Given the description of an element on the screen output the (x, y) to click on. 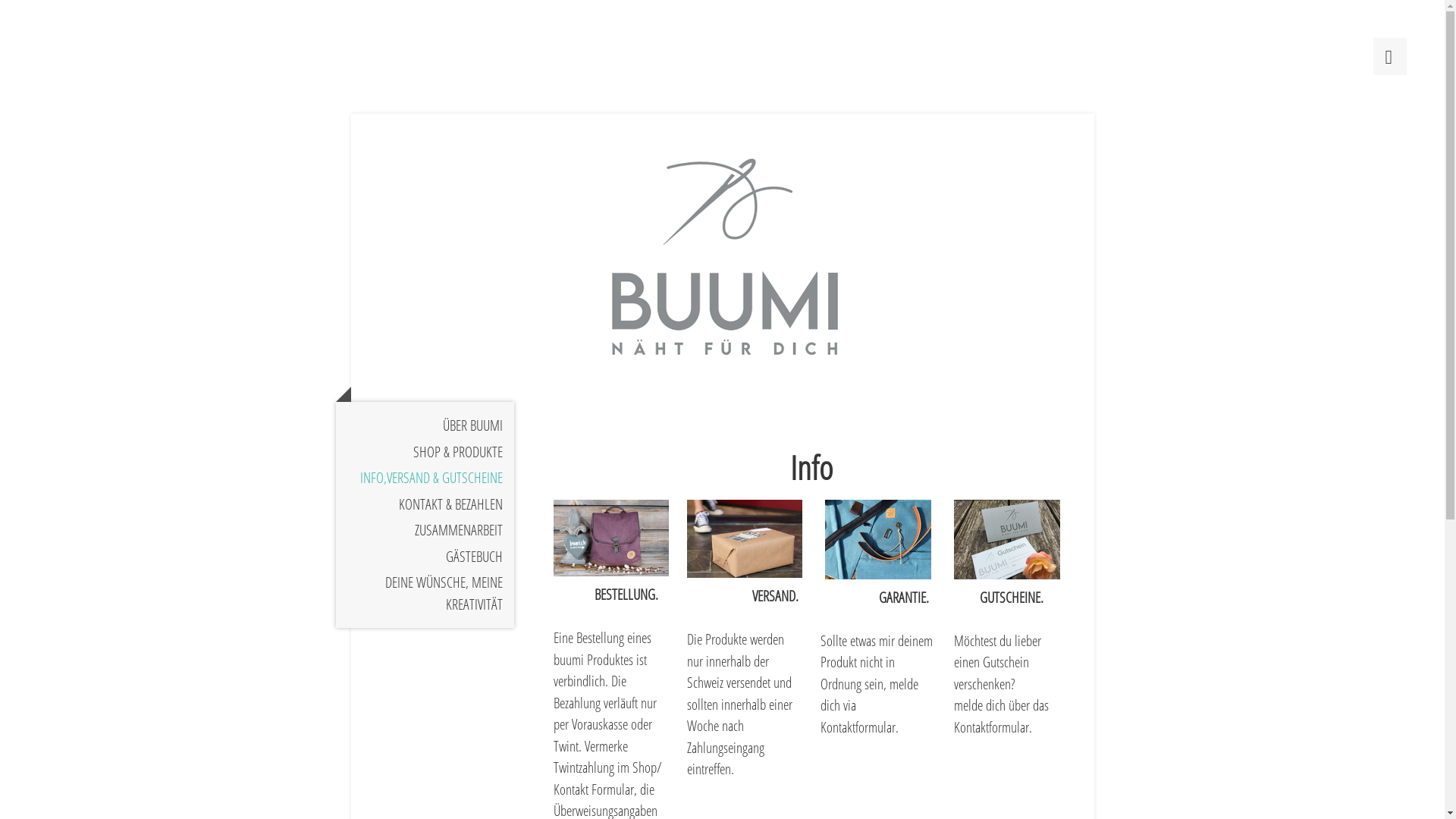
KONTAKT & BEZAHLEN Element type: text (424, 504)
SHOP & PRODUKTE Element type: text (424, 451)
INFO,VERSAND & GUTSCHEINE Element type: text (424, 477)
ZUSAMMENARBEIT Element type: text (424, 530)
